Given the description of an element on the screen output the (x, y) to click on. 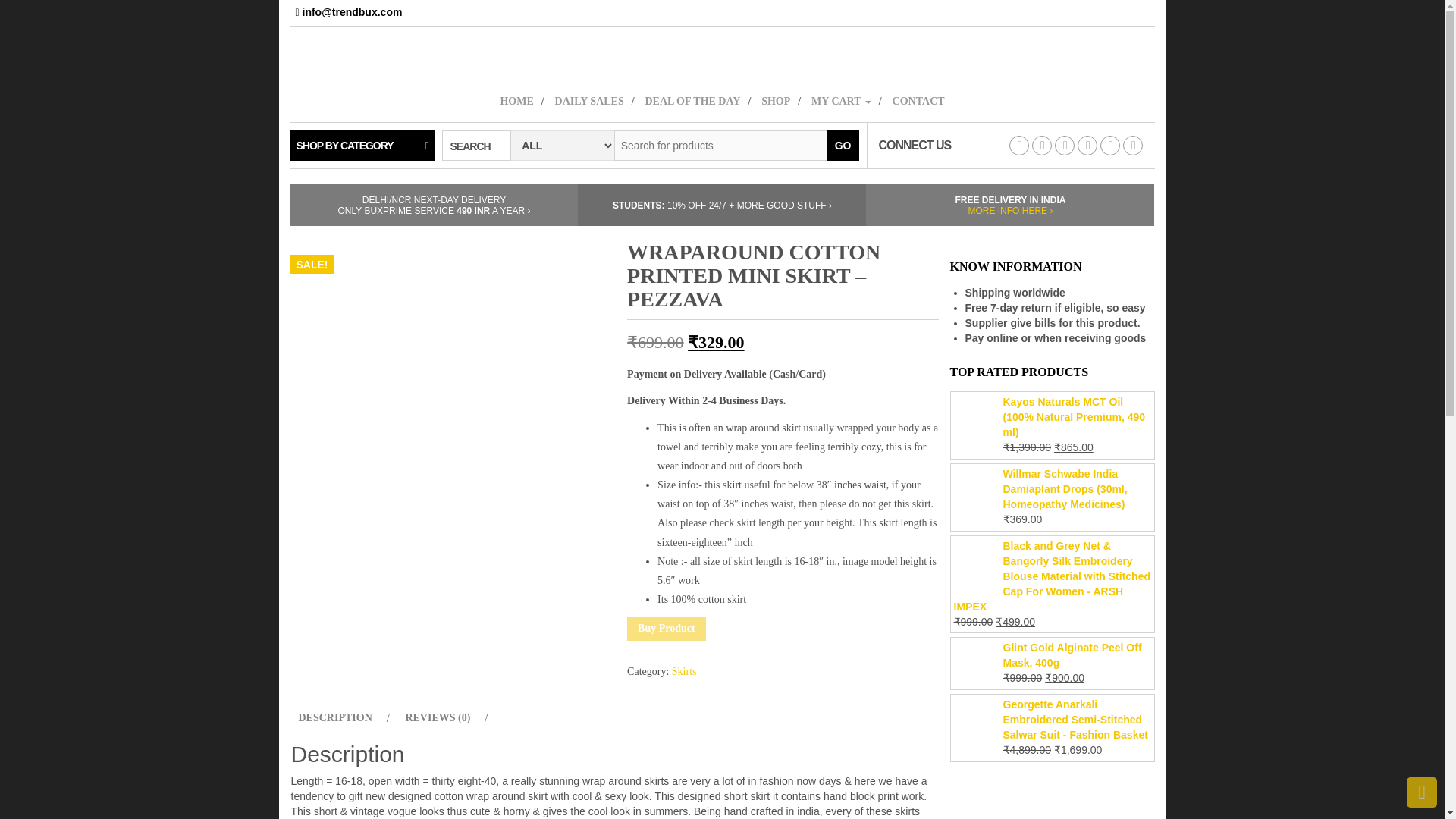
Contact (918, 101)
HOME (521, 101)
CONTACT (918, 101)
MY CART (846, 101)
Shop (781, 101)
My Cart (846, 101)
DEAL OF THE DAY (698, 101)
Deal of the Day (698, 101)
DAILY SALES (595, 101)
Daily Sales (595, 101)
